Given the description of an element on the screen output the (x, y) to click on. 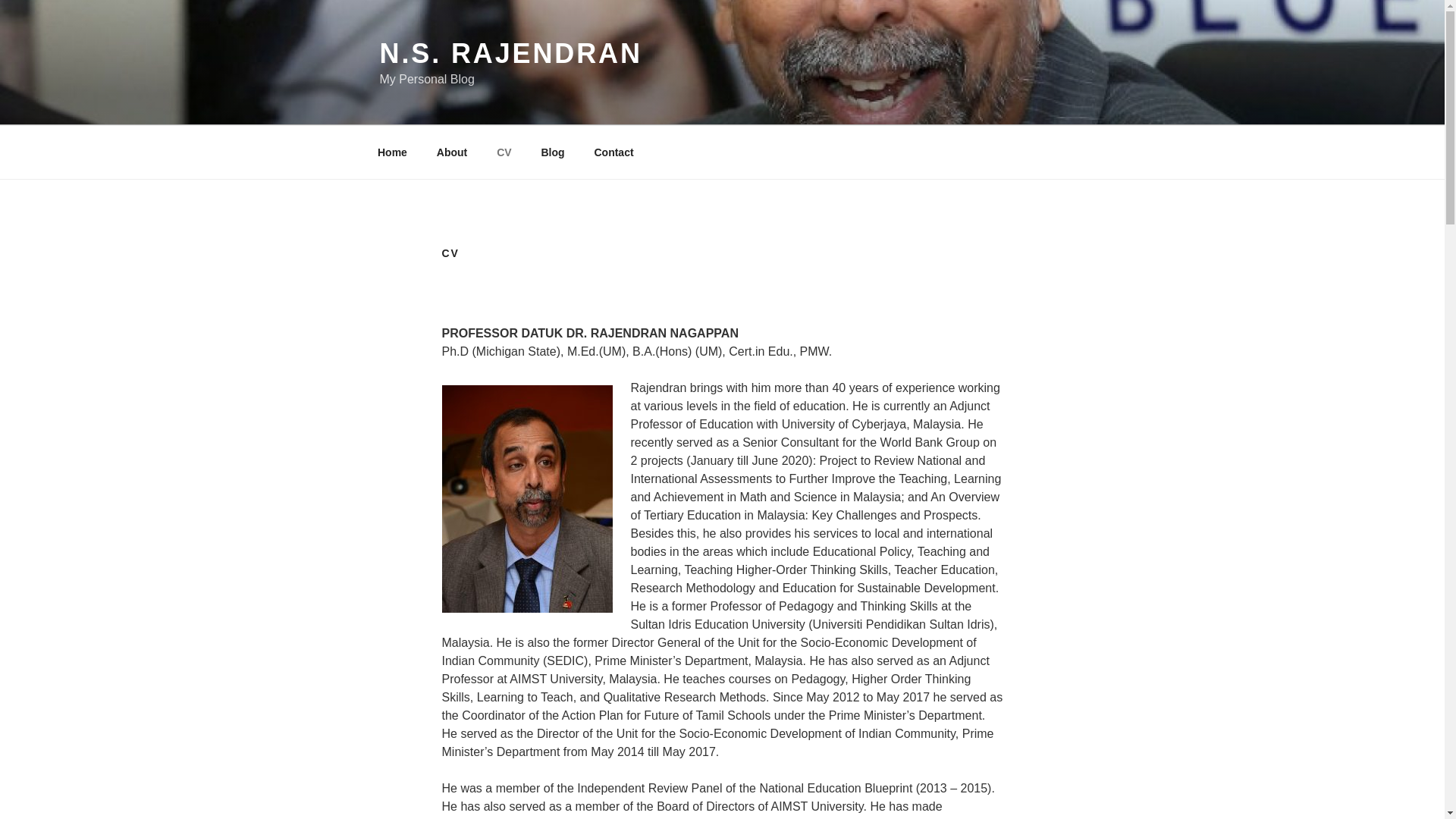
N.S. RAJENDRAN (510, 52)
About (451, 151)
Blog (552, 151)
Home (392, 151)
CV (503, 151)
Contact (613, 151)
